Given the description of an element on the screen output the (x, y) to click on. 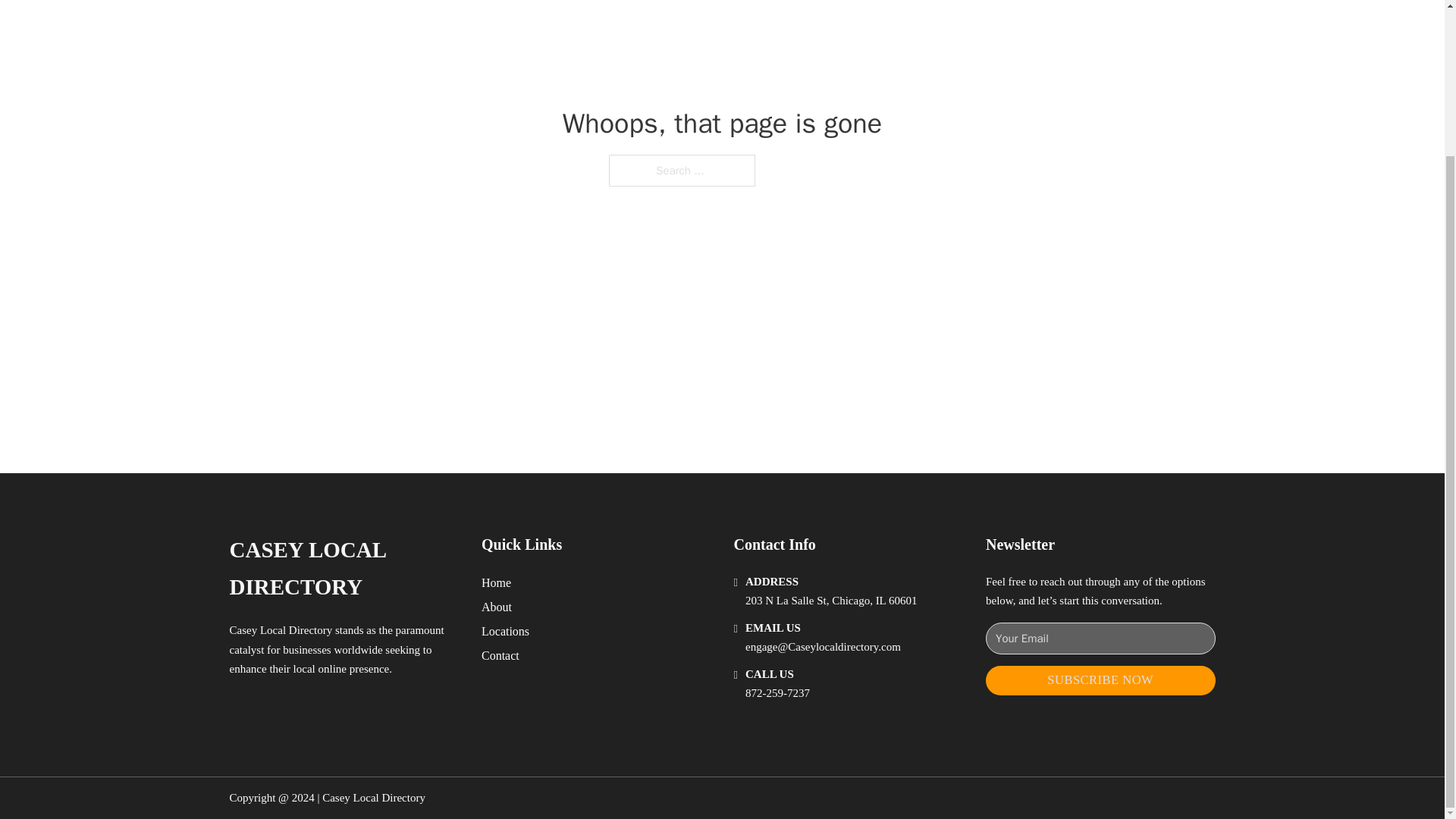
About (496, 607)
CASEY LOCAL DIRECTORY (343, 568)
872-259-7237 (777, 693)
Locations (505, 630)
Home (496, 582)
SUBSCRIBE NOW (1100, 680)
Contact (500, 655)
